Given the description of an element on the screen output the (x, y) to click on. 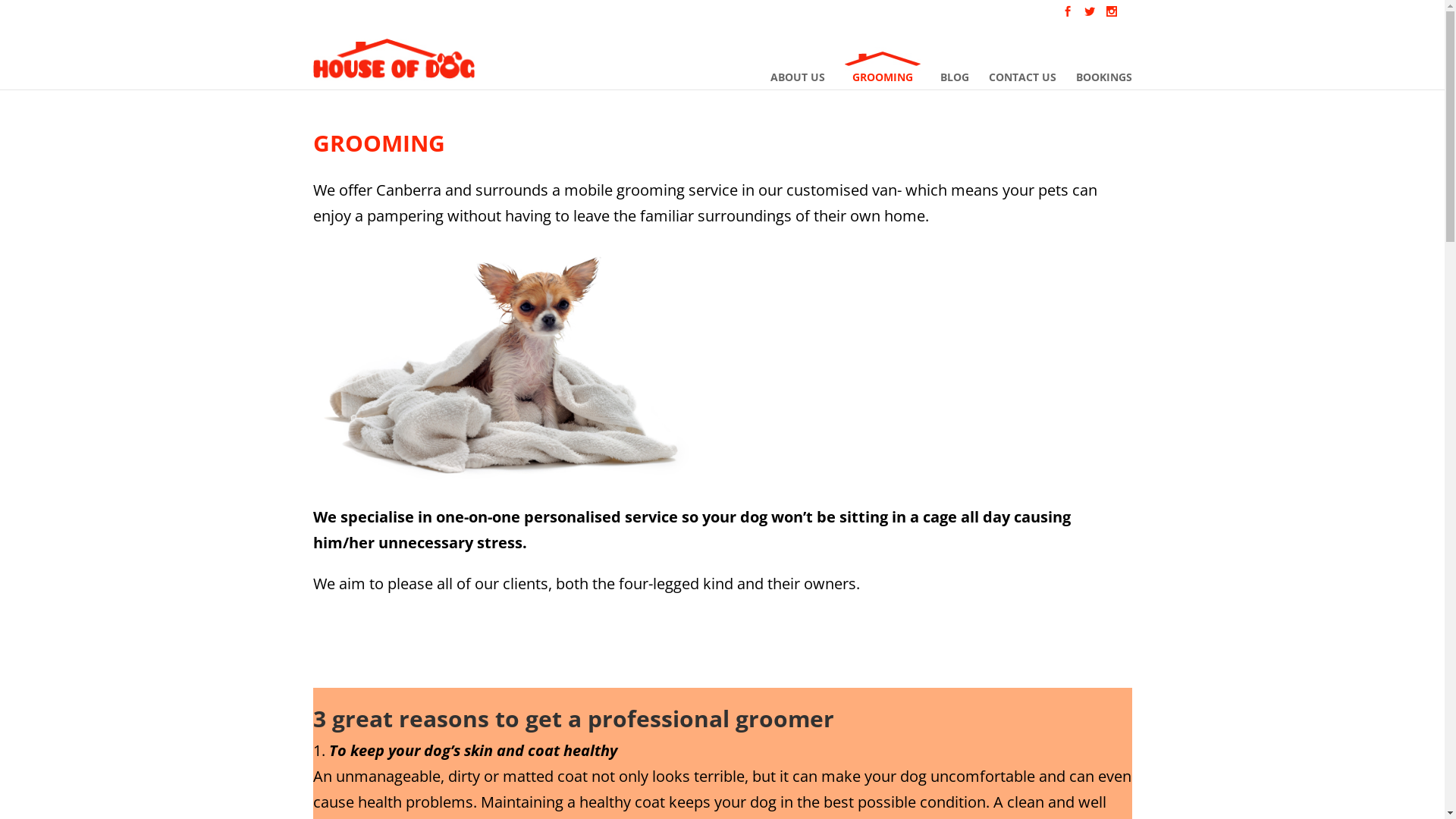
ABOUT US Element type: text (797, 67)
BLOG Element type: text (954, 67)
BOOKINGS Element type: text (1103, 67)
GROOMING Element type: text (882, 67)
CONTACT US Element type: text (1022, 67)
